Given the description of an element on the screen output the (x, y) to click on. 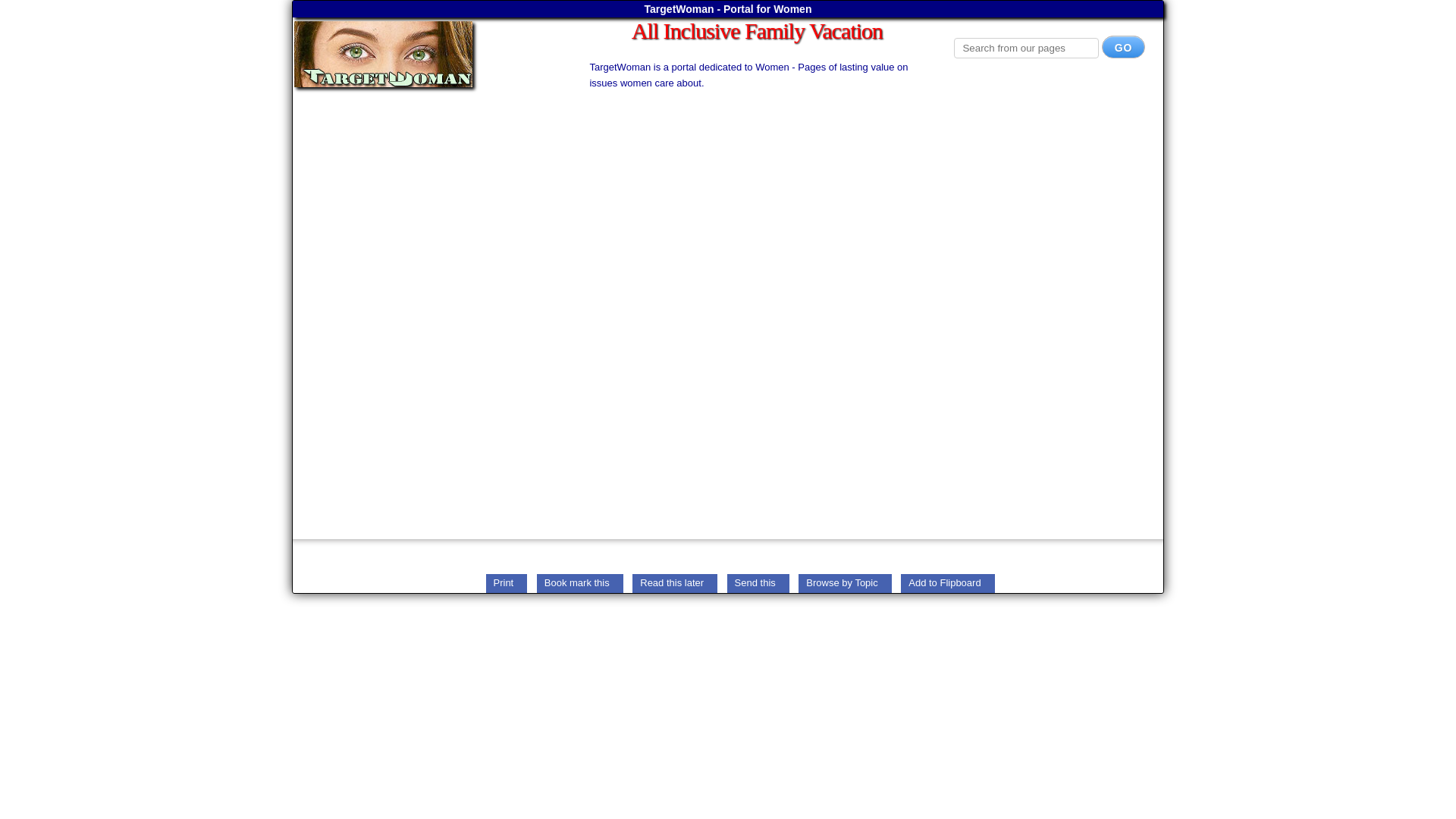
Go (1123, 47)
TargetWoman - Informative Portal for Women (425, 53)
Add to Flipboard (947, 581)
Read this later (674, 581)
Browse by Topic (844, 581)
Book mark this (580, 581)
Send this (757, 581)
Go (1123, 47)
